Given the description of an element on the screen output the (x, y) to click on. 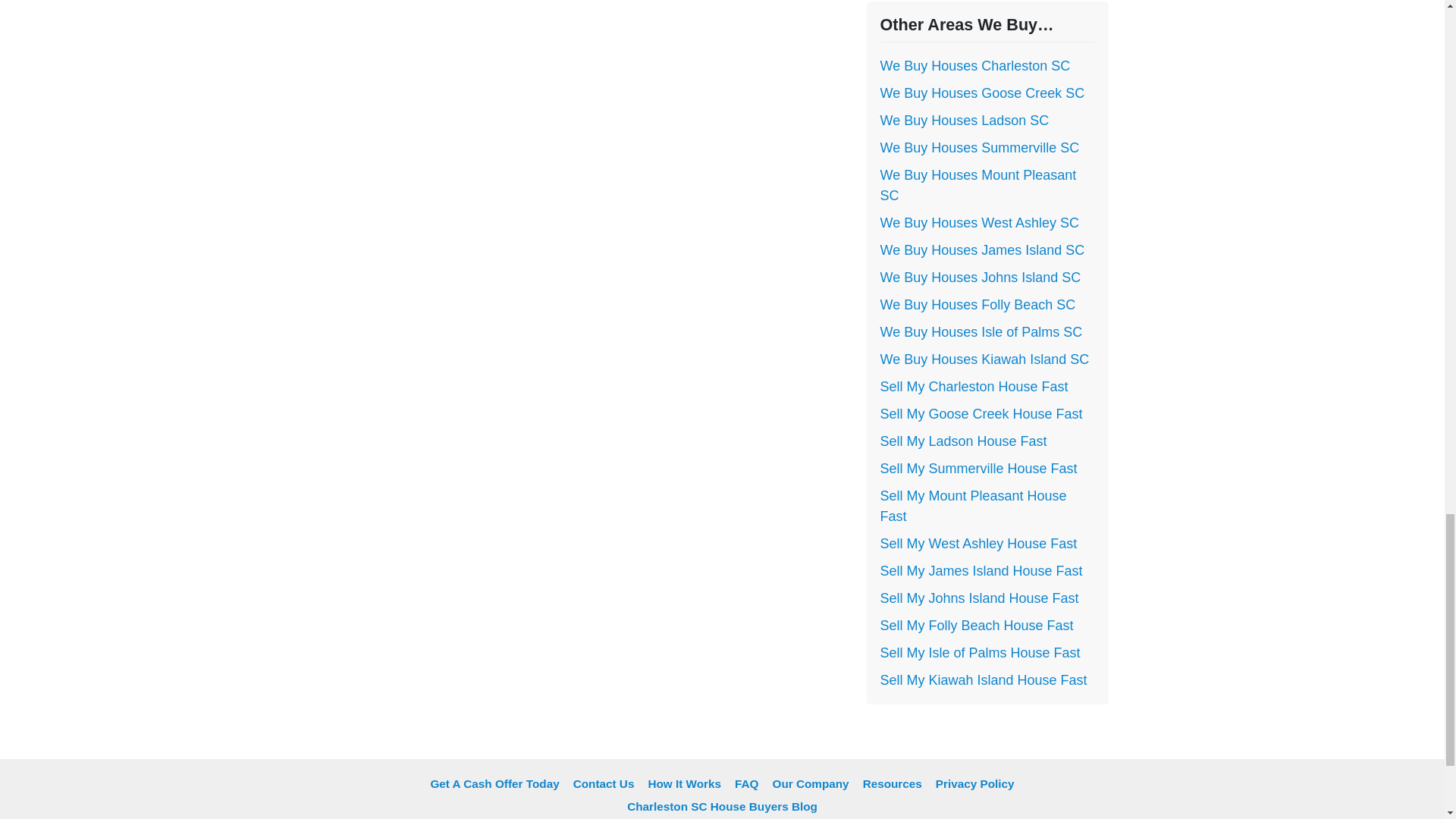
We Buy Houses Mount Pleasant SC (977, 185)
We Buy Houses James Island SC (981, 249)
We Buy Houses Folly Beach SC (977, 304)
We Buy Houses Summerville SC (978, 147)
We Buy Houses Kiawah Island SC (984, 359)
We Buy Houses Goose Creek SC (981, 92)
We Buy Houses West Ashley SC (978, 222)
We Buy Houses Johns Island SC (979, 277)
We Buy Houses Isle of Palms SC (980, 331)
We Buy Houses Ladson SC (963, 120)
We Buy Houses Charleston SC (974, 65)
